Given the description of an element on the screen output the (x, y) to click on. 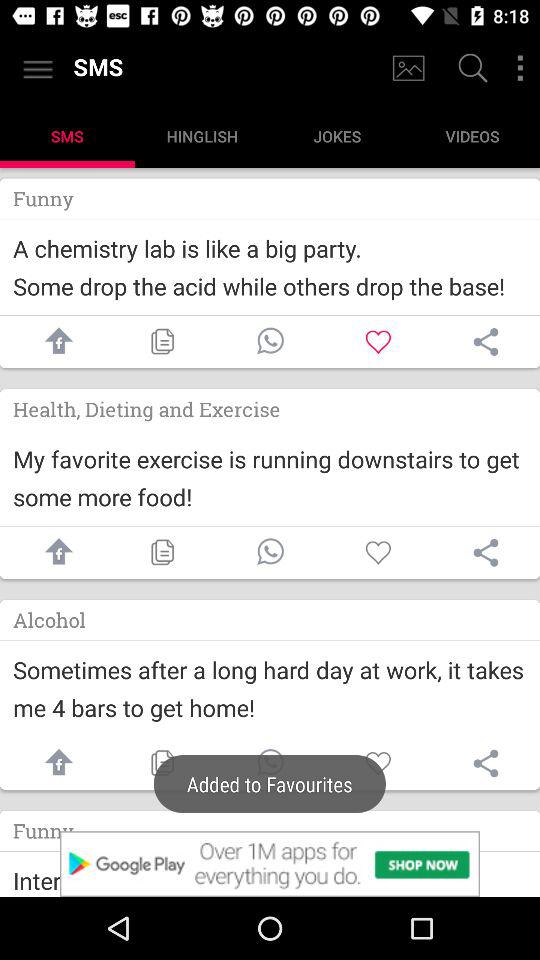
share article button (486, 552)
